Given the description of an element on the screen output the (x, y) to click on. 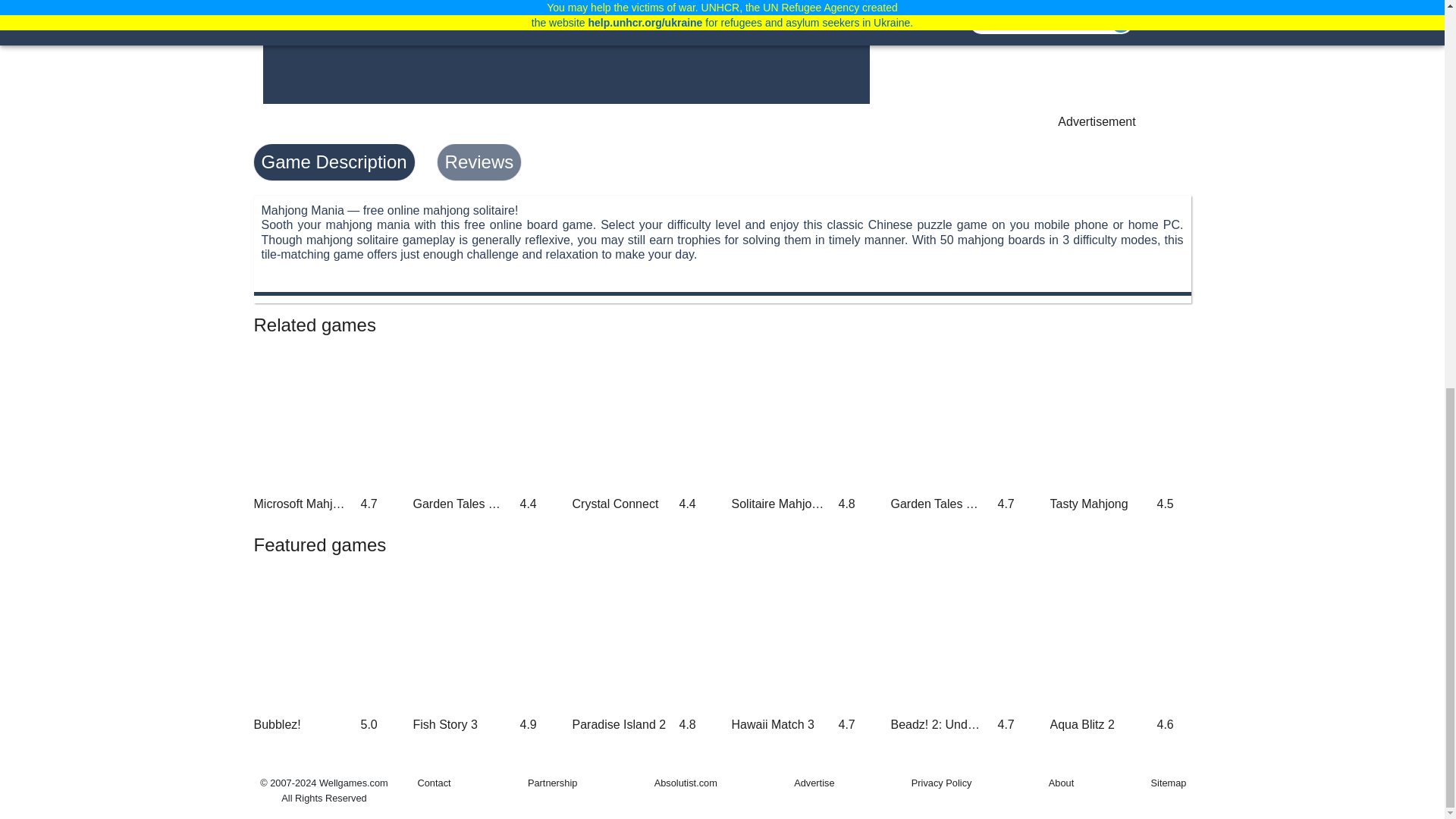
Crystal Connect (642, 430)
Solitaire Mahjong Farm 2 (801, 430)
Garden Tales Mahjong 2 (482, 430)
Microsoft Mahjong (323, 430)
